Given the description of an element on the screen output the (x, y) to click on. 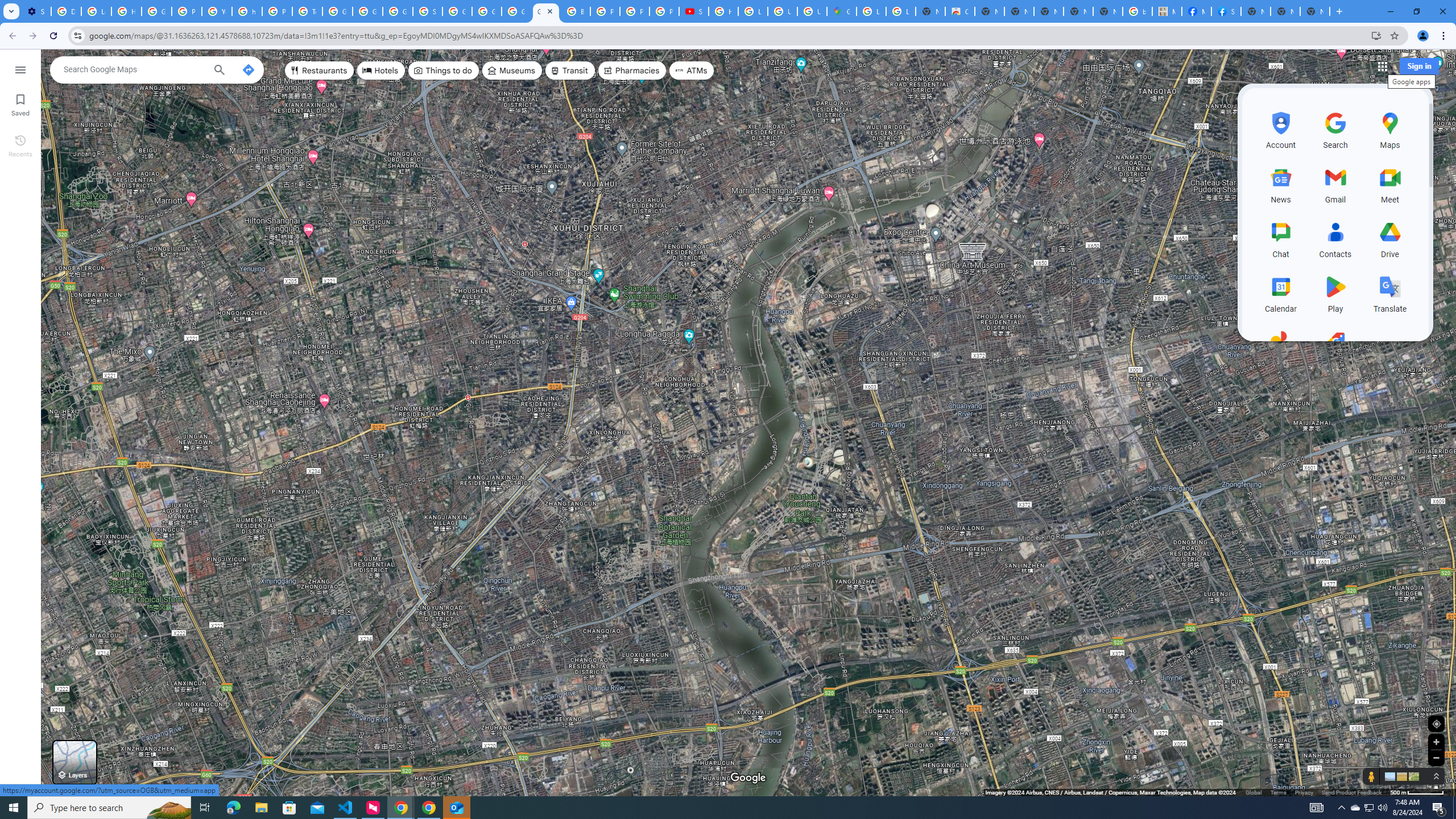
Hotels (381, 70)
Layers (74, 762)
Settings - Customize profile (36, 11)
Privacy Help Center - Policies Help (604, 11)
MILEY CYRUS. (1166, 11)
Show Street View coverage (1371, 776)
Learn how to find your photos - Google Photos Help (95, 11)
